Given the description of an element on the screen output the (x, y) to click on. 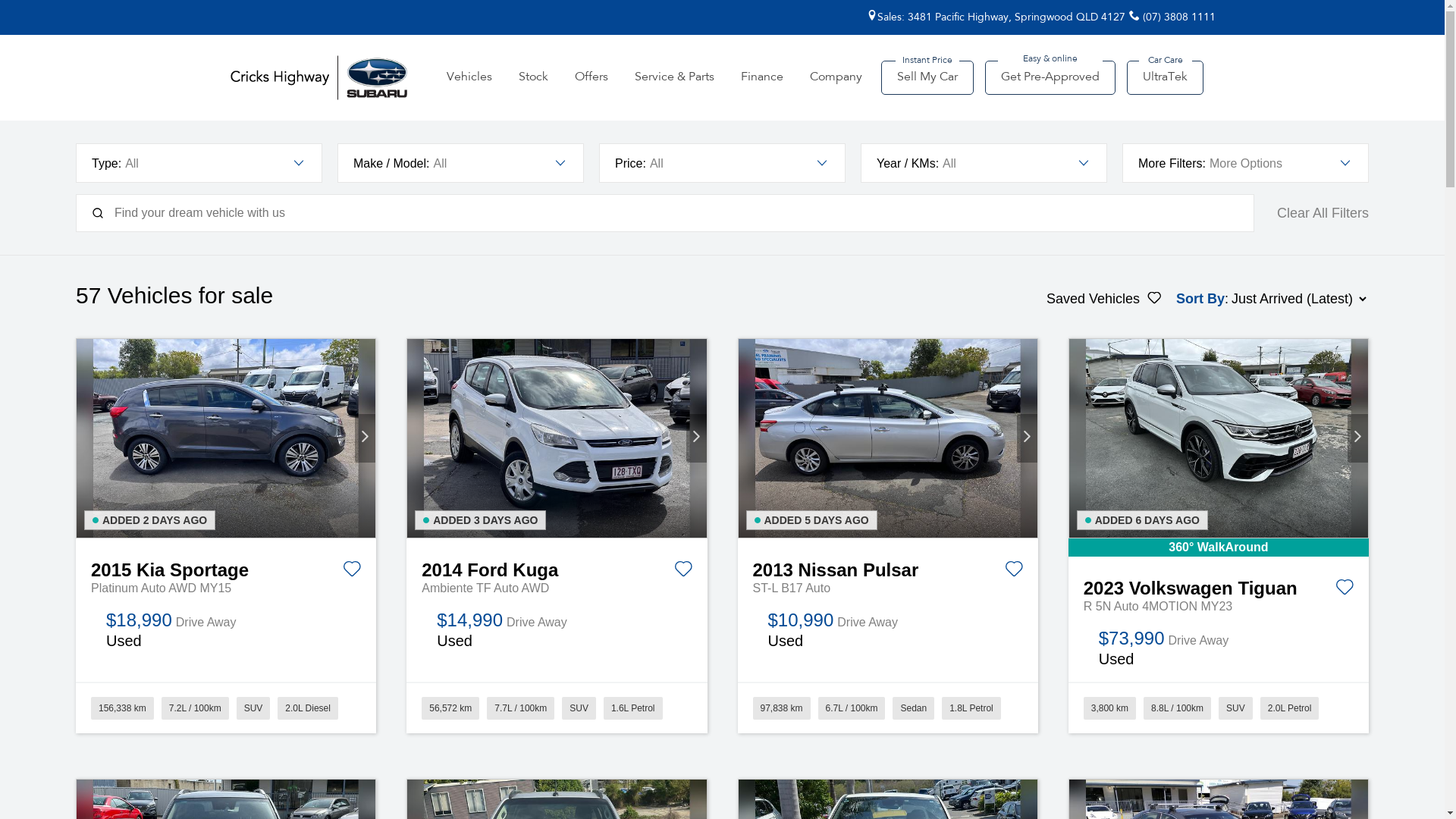
Sales: 3481 Pacific Highway, Springwood QLD 4127 Element type: text (995, 17)
Save Vehicle Element type: hover (1344, 589)
156,338 km
7.2L / 100km
SUV
2.0L Diesel Element type: text (225, 707)
Saved Vehicles Element type: text (1103, 298)
Get Pre-Approved Element type: text (1050, 77)
2014 Ford Kuga
Ambiente TF Auto AWD Element type: text (556, 567)
Service & Parts Element type: text (674, 77)
$18,990
Drive Away
Used Element type: text (225, 630)
Offers Element type: text (591, 77)
97,838 km
6.7L / 100km
Sedan
1.8L Petrol Element type: text (887, 707)
56,572 km
7.7L / 100km
SUV
1.6L Petrol Element type: text (556, 707)
Company Element type: text (835, 77)
Save Vehicle Element type: hover (1013, 571)
2023 Volkswagen Tiguan R 5N Auto 4MOTION MY23 Element type: hover (1218, 438)
2014 Ford Kuga Ambiente TF Auto AWD Element type: hover (556, 438)
3,800 km
8.8L / 100km
SUV
2.0L Petrol Element type: text (1218, 707)
$10,990
Drive Away
Used Element type: text (887, 630)
Finance Element type: text (761, 77)
UltraTek Element type: text (1164, 77)
(07) 3808 1111 Element type: text (1171, 17)
Vehicles Element type: text (468, 77)
Save Vehicle Element type: hover (682, 571)
2013 Nissan Pulsar
ST-L B17 Auto Element type: text (887, 567)
2015 Kia Sportage
Platinum Auto AWD MY15 Element type: text (225, 567)
$14,990
Drive Away
Used Element type: text (556, 630)
Stock Element type: text (533, 77)
Sell My Car Element type: text (927, 77)
Save Vehicle Element type: hover (351, 571)
2015 Kia Sportage Platinum Auto AWD MY15 Element type: hover (225, 438)
2013 Nissan Pulsar ST-L B17 Auto Element type: hover (887, 438)
2023 Volkswagen Tiguan
R 5N Auto 4MOTION MY23 Element type: text (1218, 585)
Clear All Filters Element type: text (1322, 212)
$73,990
Drive Away
Used Element type: text (1218, 648)
